Given the description of an element on the screen output the (x, y) to click on. 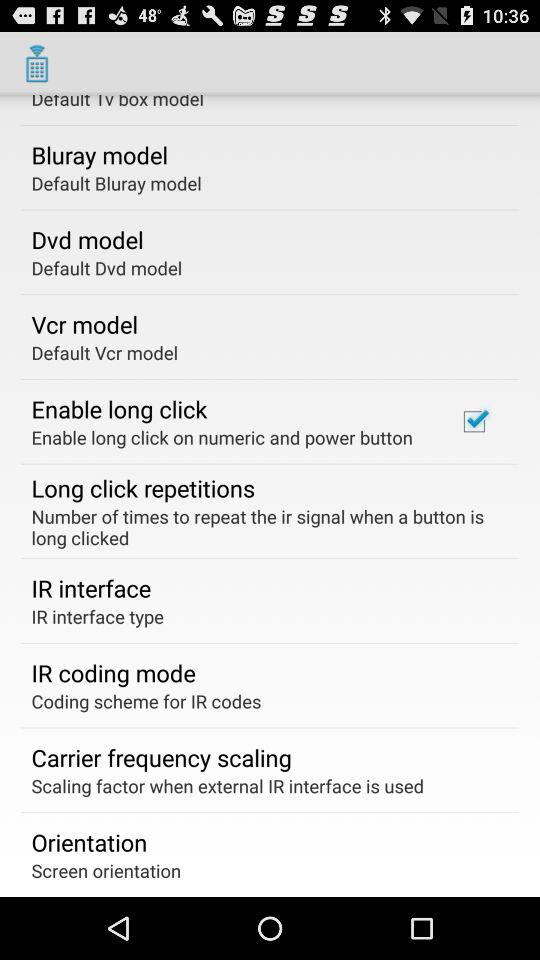
launch item below the orientation app (106, 870)
